Given the description of an element on the screen output the (x, y) to click on. 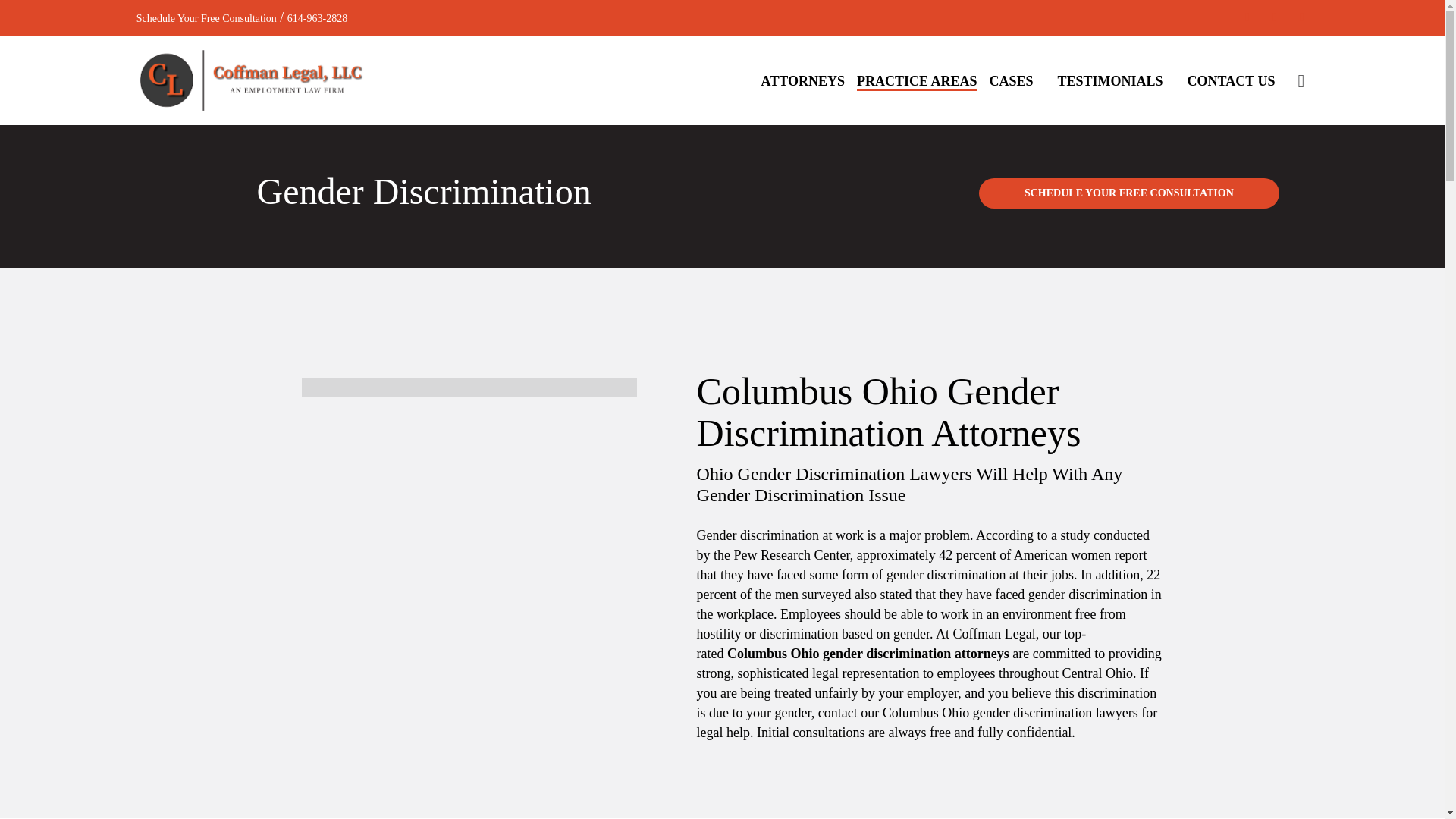
Schedule Your Free Consultation (206, 18)
PRACTICE AREAS (916, 80)
Twitter (1274, 17)
Instagram (1301, 17)
ATTORNEYS (803, 80)
614-963-2828 (316, 18)
Facebook (1247, 17)
